Given the description of an element on the screen output the (x, y) to click on. 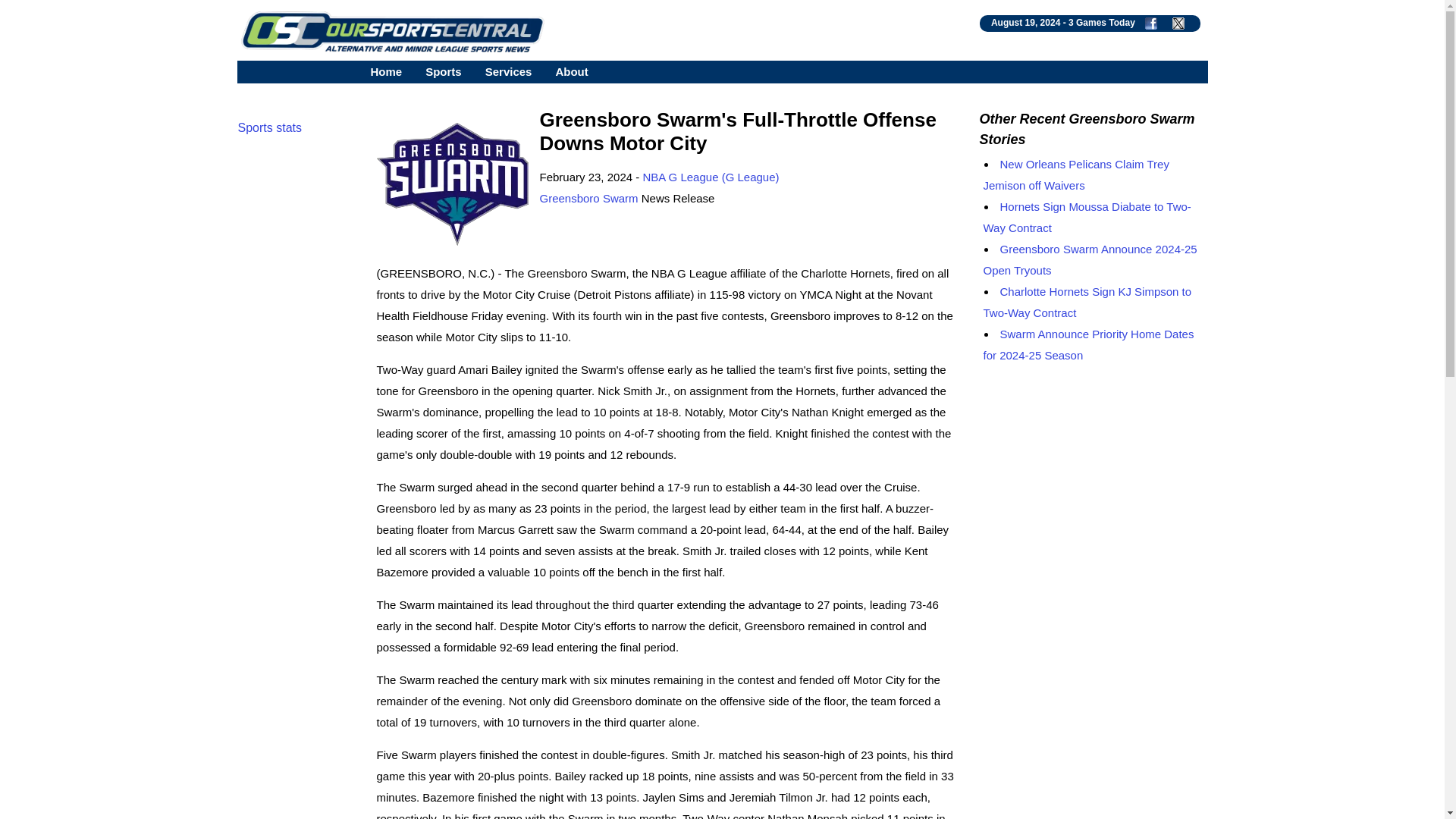
Sports stats (269, 127)
Home (385, 71)
3 Games Today (1101, 22)
Greensboro Swarm (589, 197)
